Given the description of an element on the screen output the (x, y) to click on. 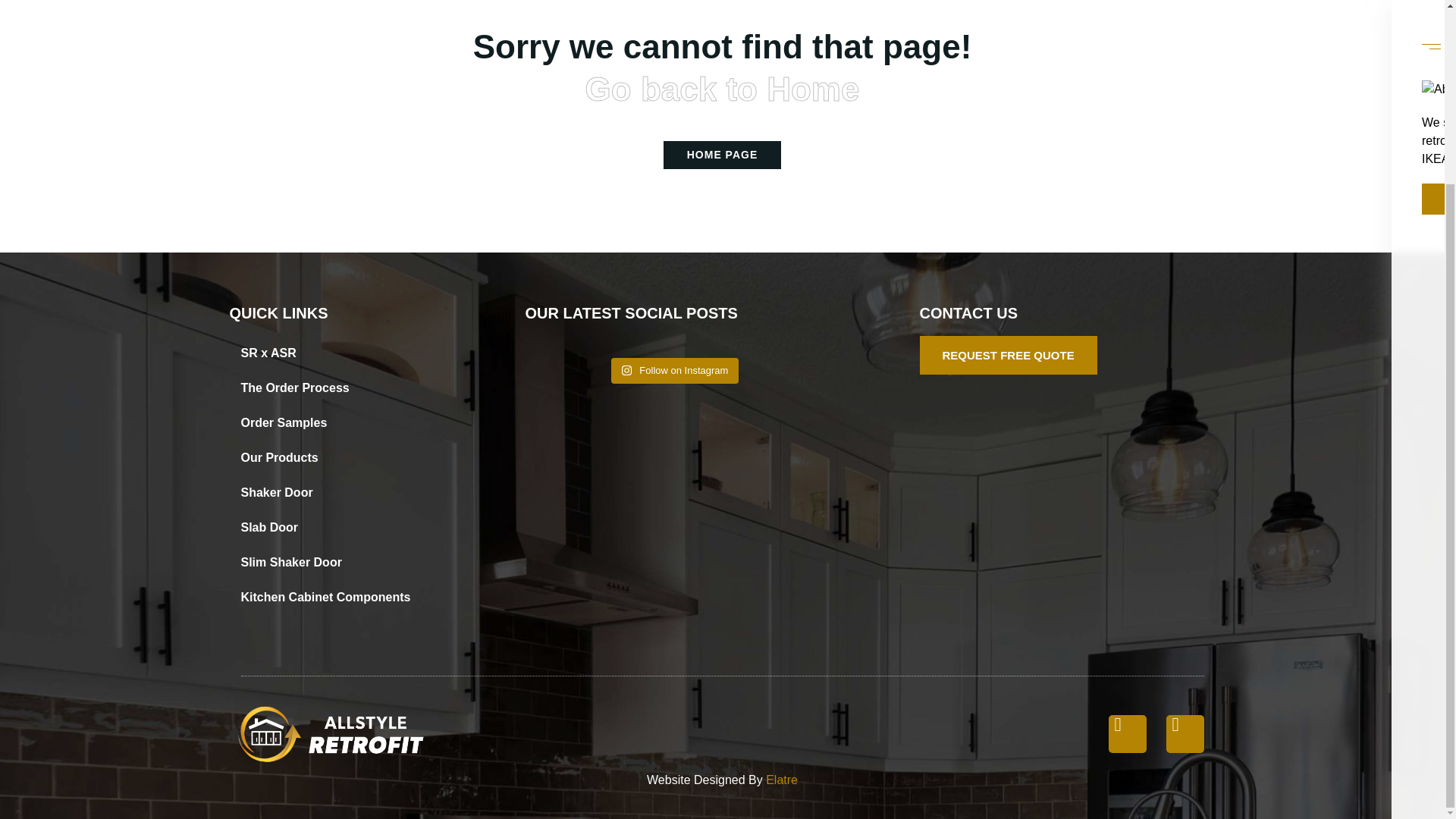
Order Samples (327, 422)
Shaker Door (327, 492)
SR x ASR (327, 353)
HOME PAGE (722, 154)
The Order Process (327, 388)
Slab Door (327, 527)
Our Products (327, 457)
